Given the description of an element on the screen output the (x, y) to click on. 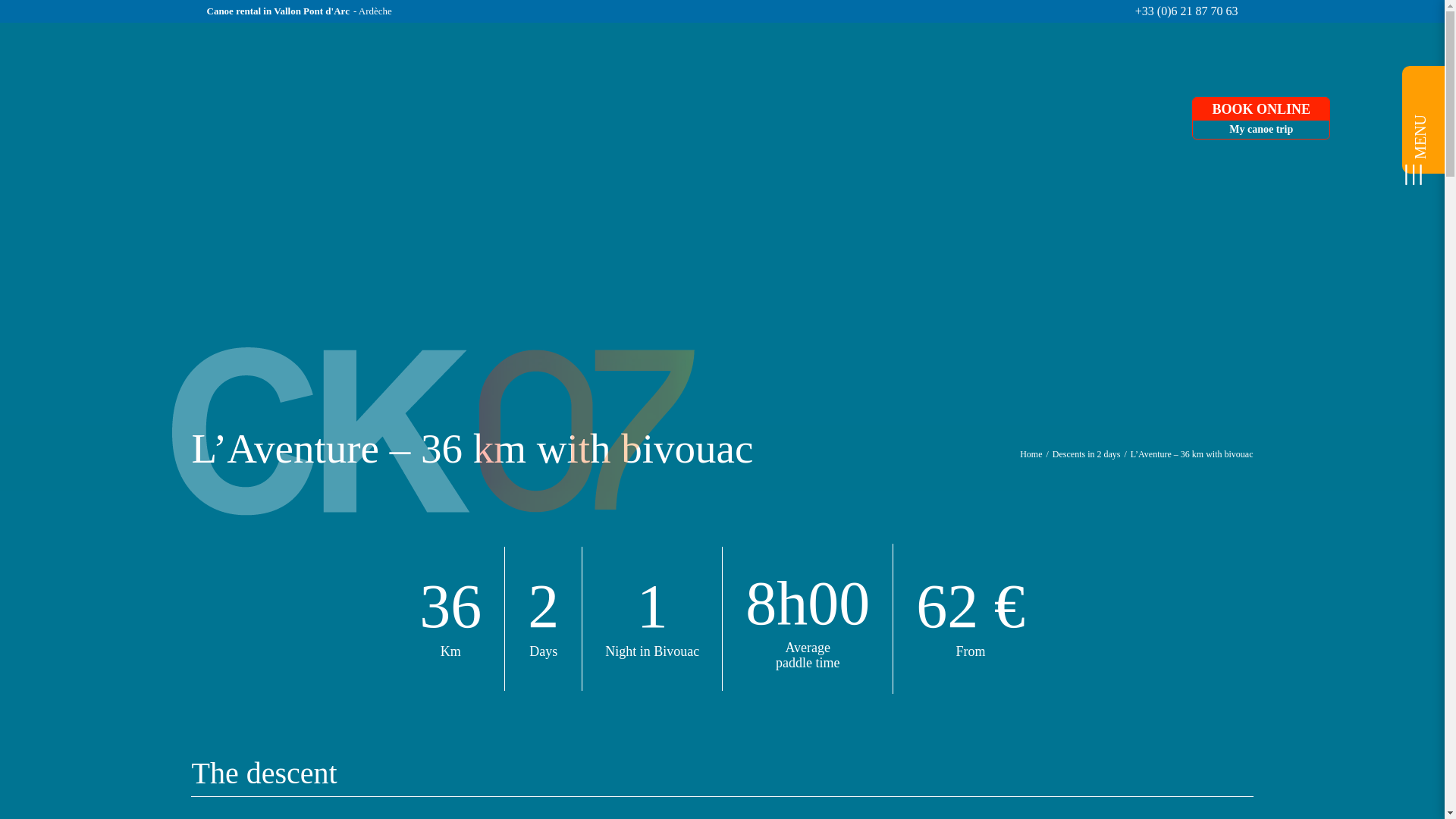
Descents in 2 days (1086, 453)
Home (1261, 118)
